Given the description of an element on the screen output the (x, y) to click on. 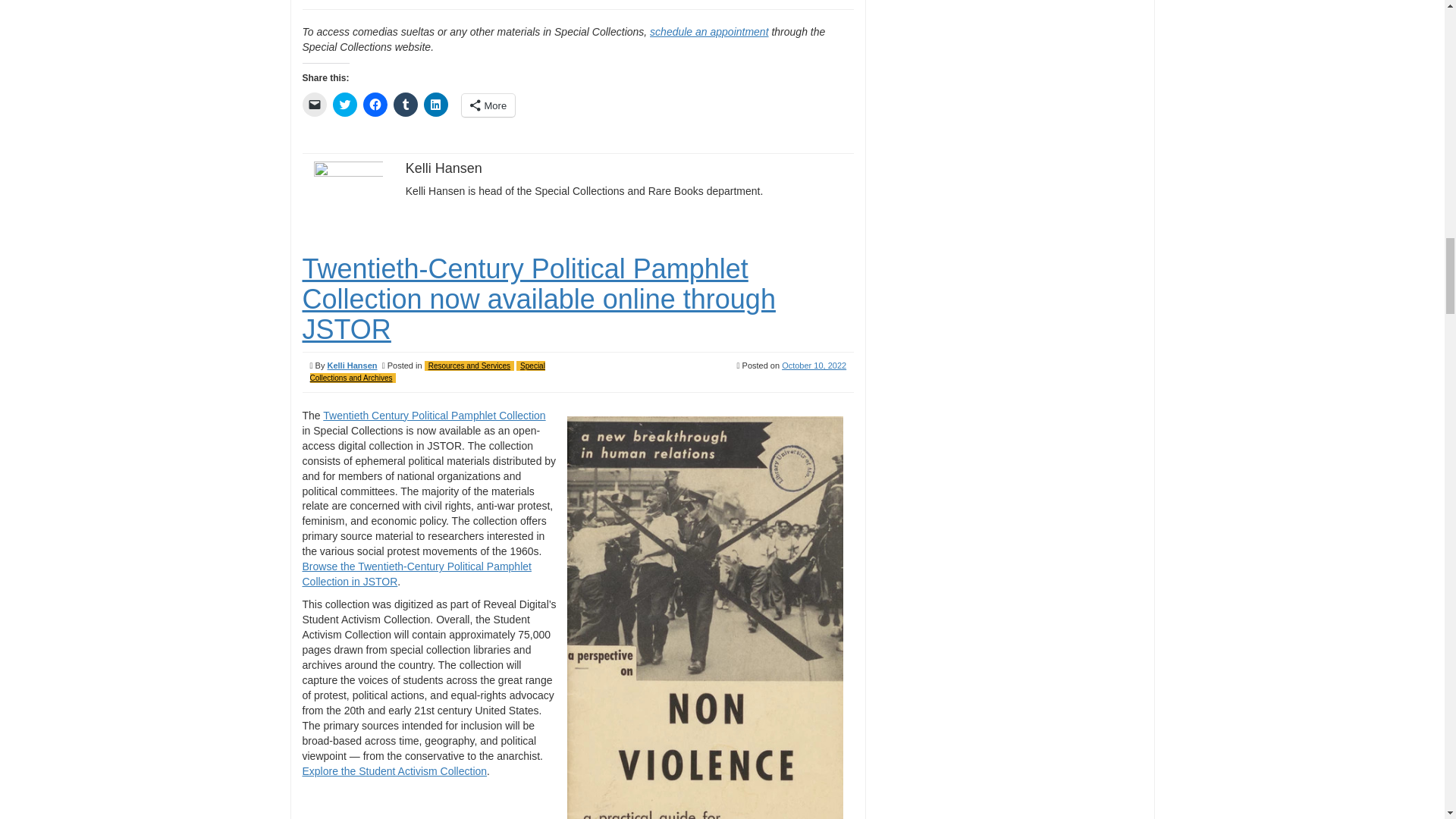
Click to email a link to a friend (313, 104)
Click to share on Tumblr (404, 104)
Click to share on Twitter (343, 104)
Click to share on Facebook (374, 104)
Click to share on LinkedIn (434, 104)
